Given the description of an element on the screen output the (x, y) to click on. 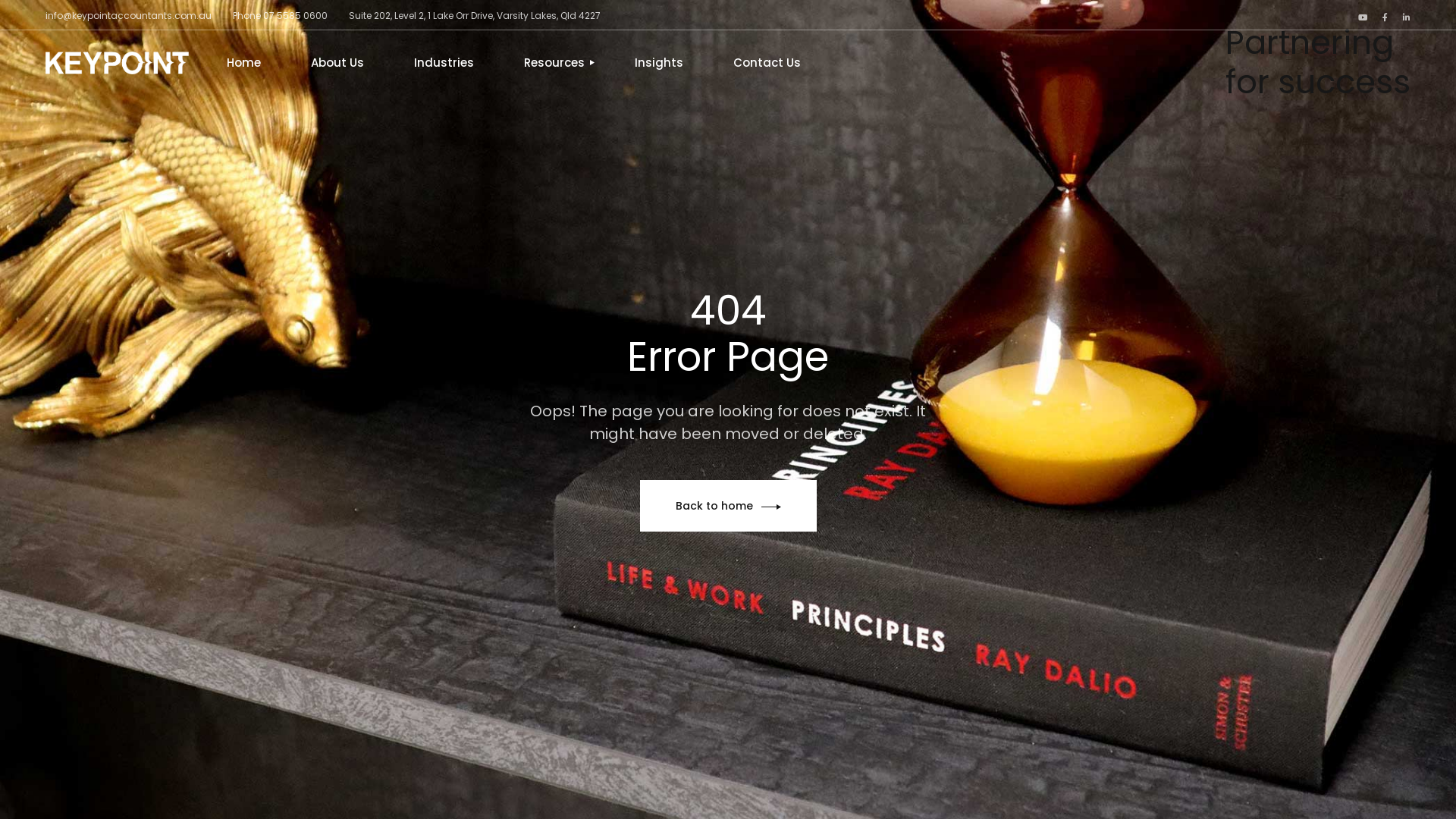
info@keypointaccountants.com.au Element type: text (128, 15)
Insights Element type: text (658, 62)
Phone 07 5585 0600 Element type: text (279, 15)
Resources Element type: text (554, 62)
Home Element type: text (243, 62)
About Us Element type: text (337, 62)
Industries Element type: text (443, 62)
Back to home Element type: text (728, 506)
Contact Us Element type: text (766, 62)
